Given the description of an element on the screen output the (x, y) to click on. 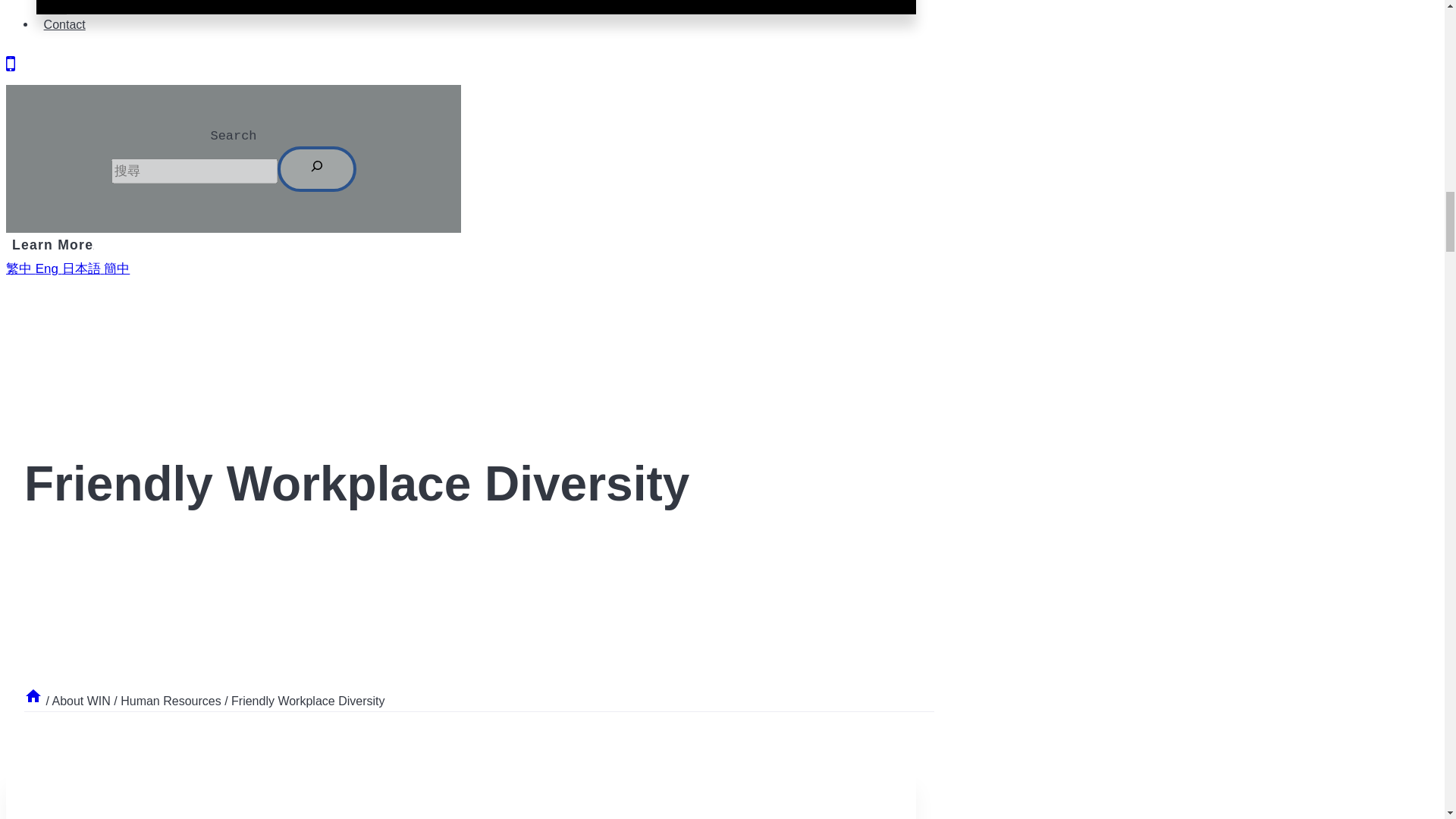
Eng (46, 268)
Home (33, 696)
Home (33, 700)
